Given the description of an element on the screen output the (x, y) to click on. 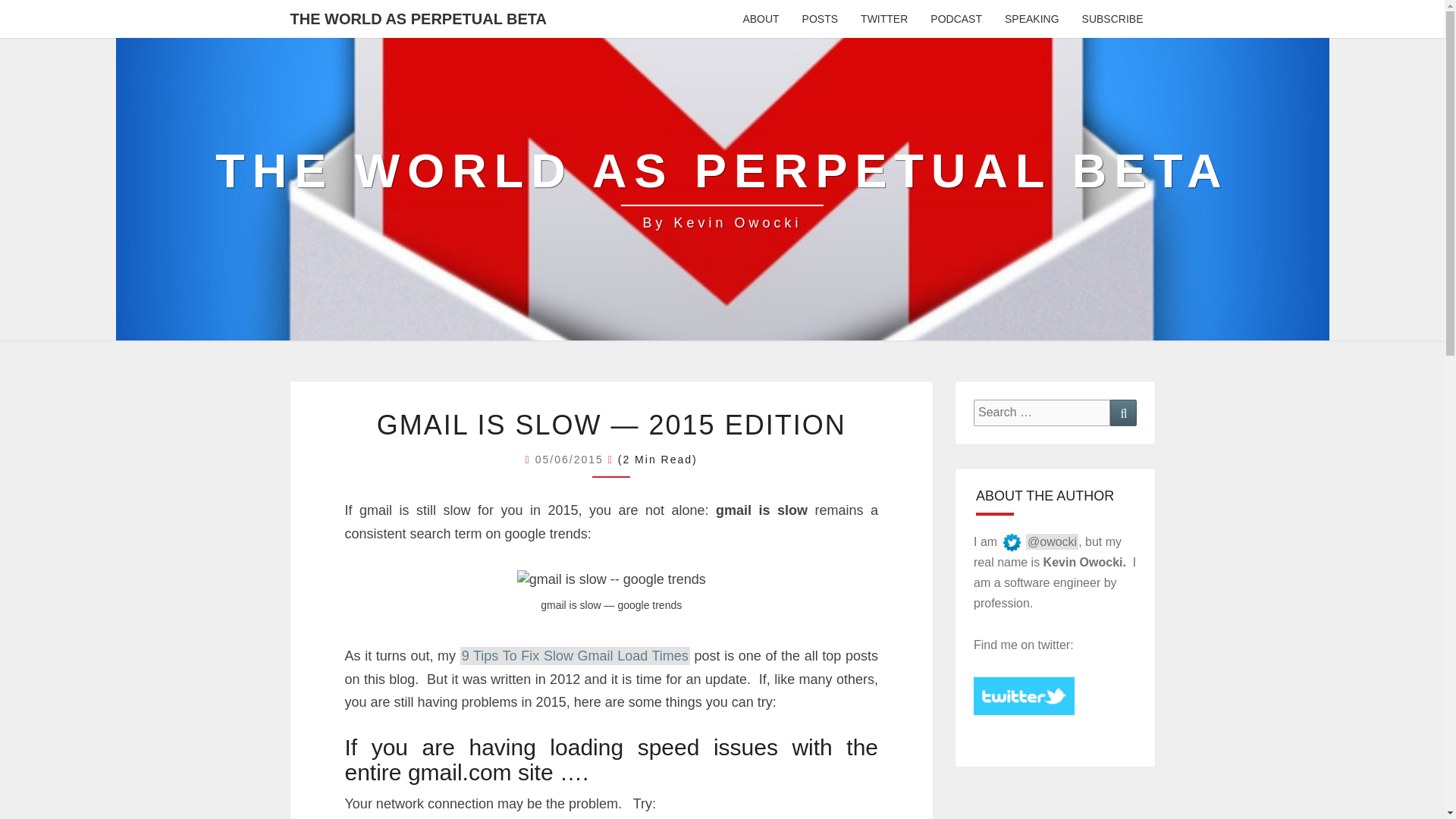
PODCAST (955, 18)
SUBSCRIBE (1112, 18)
Twitter (883, 18)
7:17 am (571, 459)
POSTS (819, 18)
SPEAKING (1031, 18)
The World As Perpetual Beta (721, 188)
TWITTER (883, 18)
Speaking (1031, 18)
Podcast (955, 18)
ABOUT (760, 18)
Subscribe (1112, 18)
About (760, 18)
Search (1123, 412)
THE WORLD AS PERPETUAL BETA (419, 18)
